Given the description of an element on the screen output the (x, y) to click on. 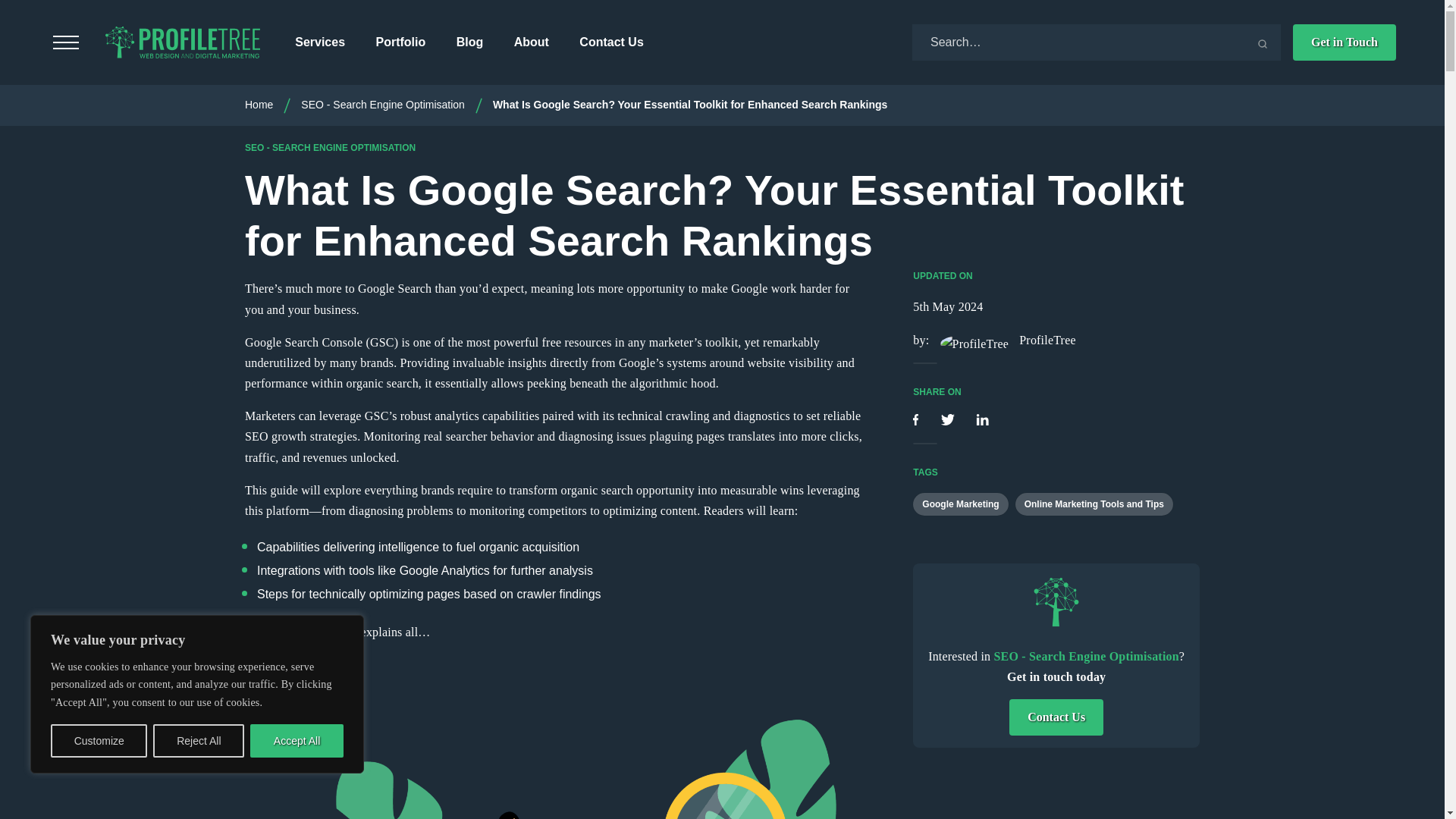
Get in Touch (1344, 42)
Portfolio (400, 42)
Services (320, 42)
Accept All (296, 740)
Share on Twitter (949, 420)
SEO - SEARCH ENGINE OPTIMISATION (329, 147)
About (530, 42)
Customize (98, 740)
Home (258, 104)
Share on LinkedIn (981, 420)
SEO - Search Engine Optimisation (382, 104)
Blog (470, 42)
Contact Us (611, 42)
Reject All (198, 740)
SEO - Search Engine Optimisation blogposts by ProfileTree (1056, 601)
